Given the description of an element on the screen output the (x, y) to click on. 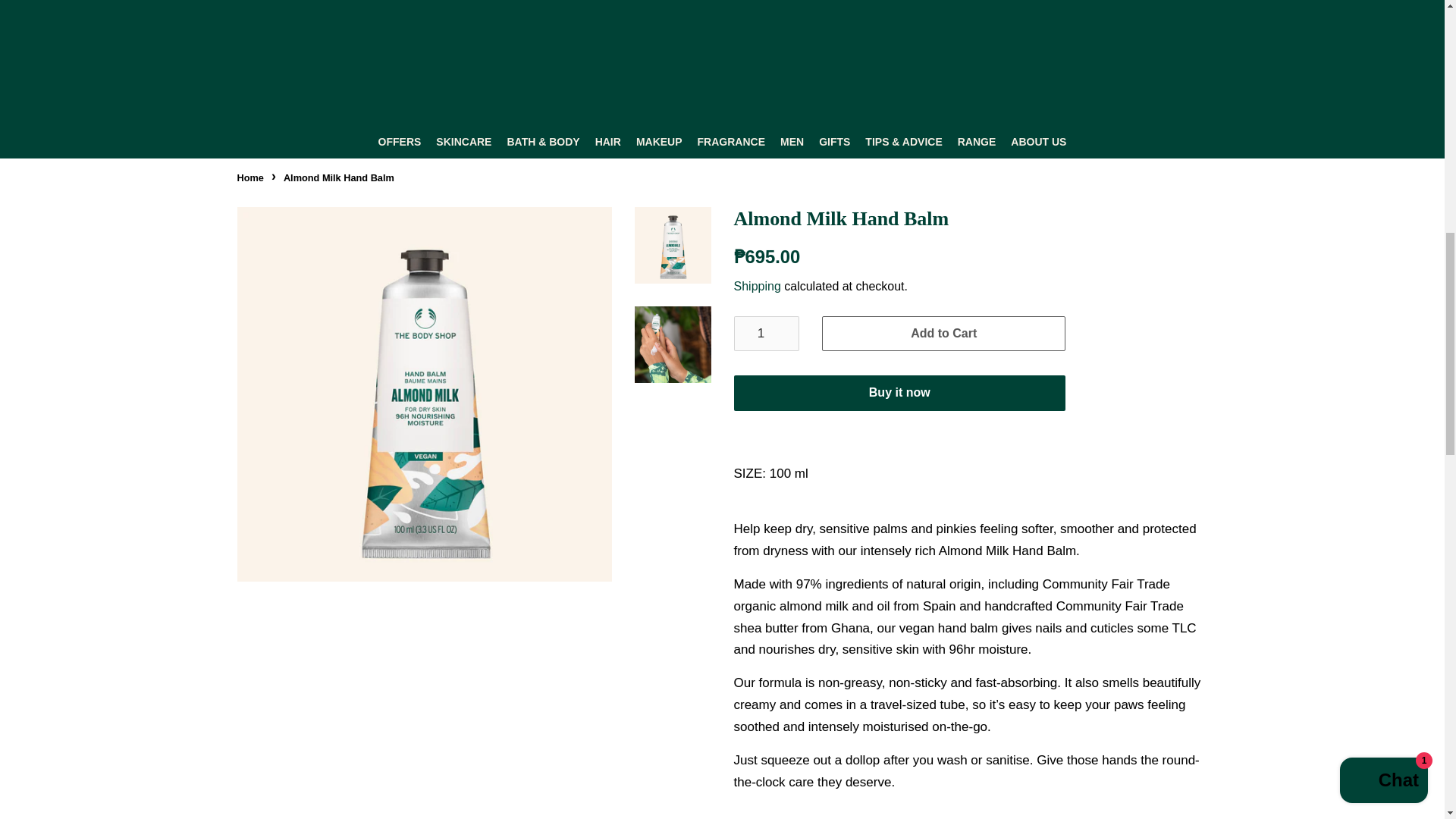
1 (766, 333)
